Given the description of an element on the screen output the (x, y) to click on. 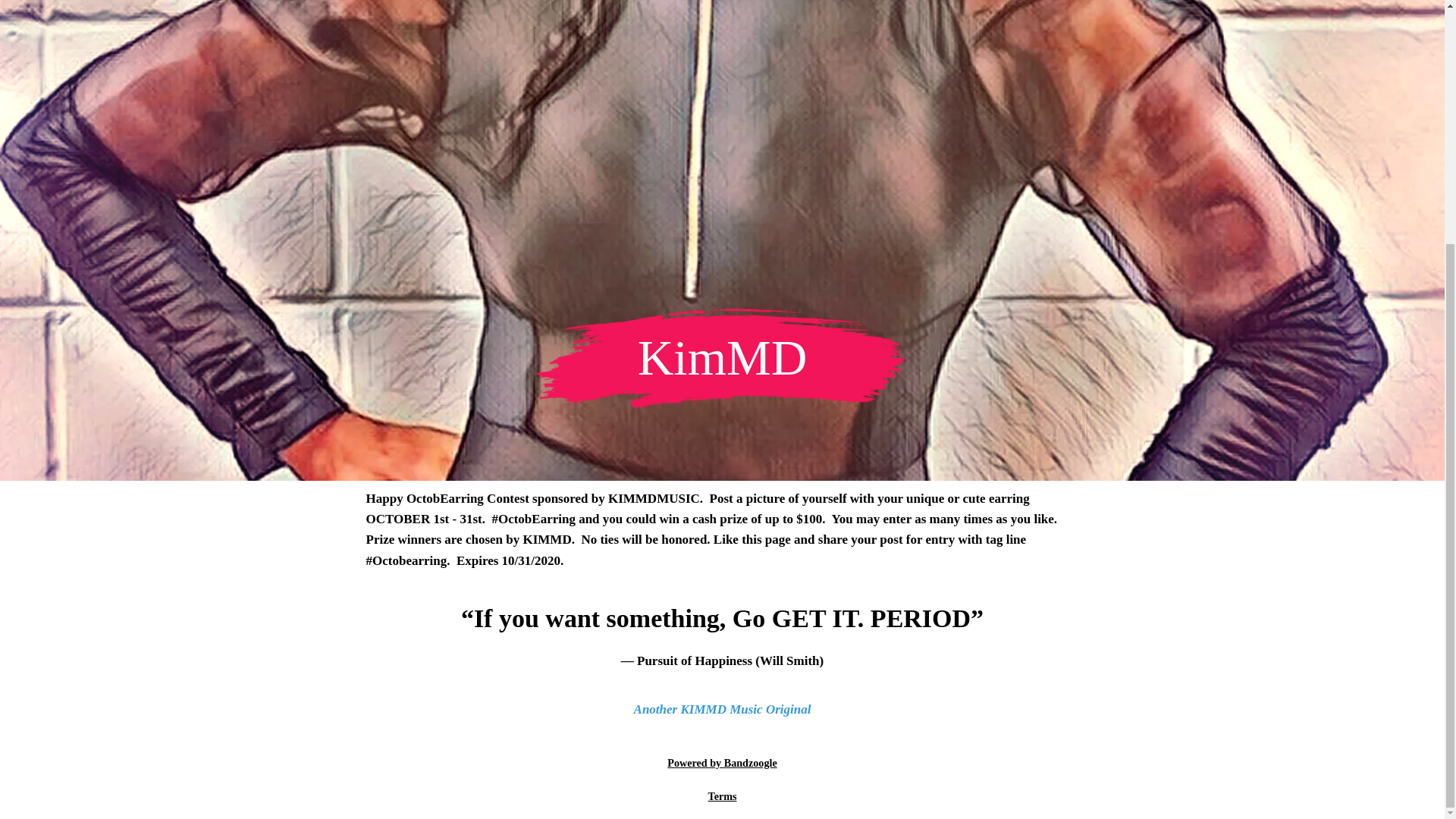
KimMD (722, 367)
Powered by Bandzoogle (721, 762)
Powered by Bandzoogle (721, 762)
Terms (721, 796)
